Given the description of an element on the screen output the (x, y) to click on. 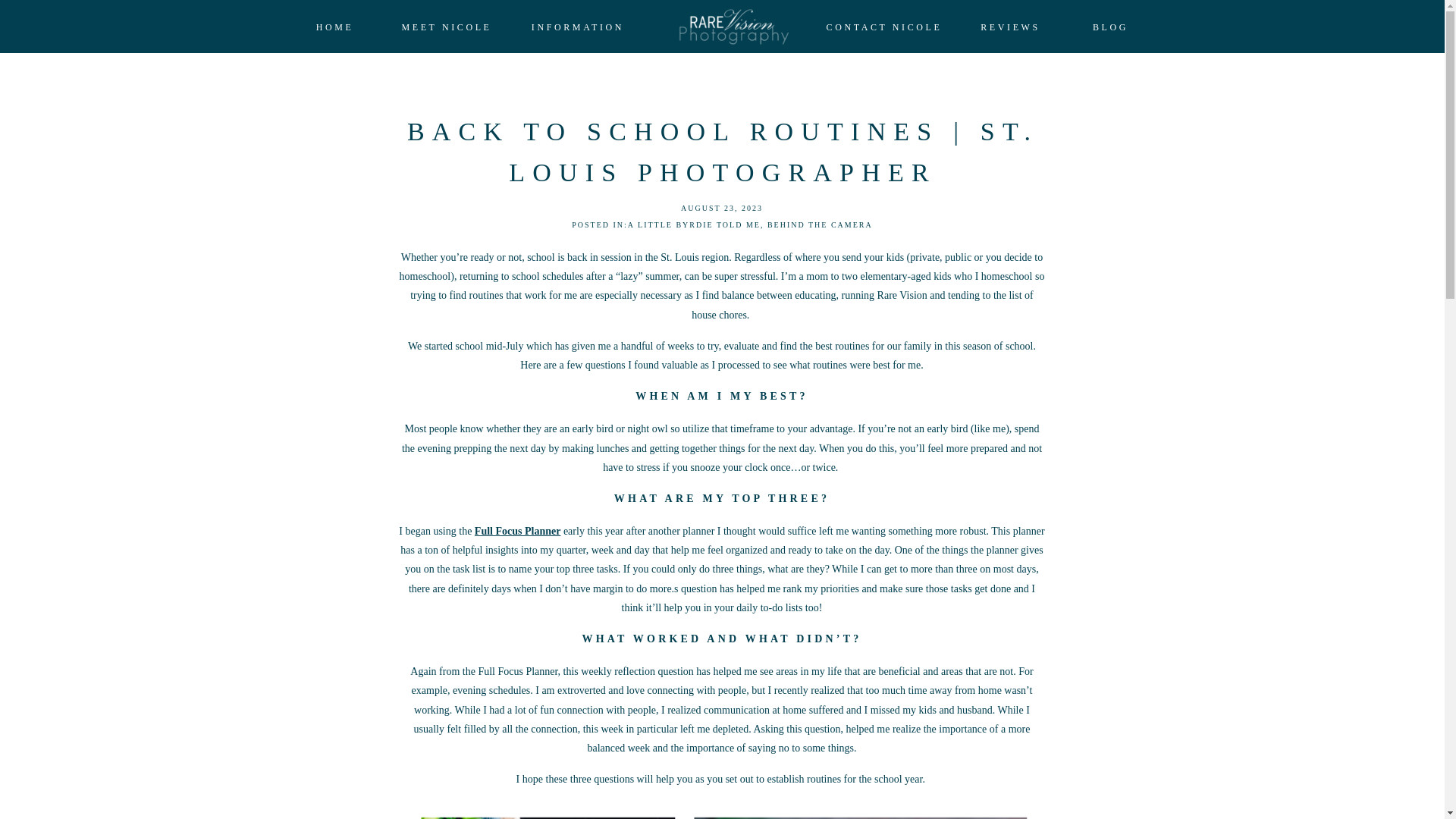
CONTACT NICOLE (883, 26)
HOME (334, 26)
Full Focus Planner (517, 531)
INFORMATION (577, 26)
MEET NICOLE (446, 26)
A LITTLE BYRDIE TOLD ME (693, 224)
REVIEWS (1010, 26)
BEHIND THE CAMERA (819, 224)
BLOG (1109, 26)
